Given the description of an element on the screen output the (x, y) to click on. 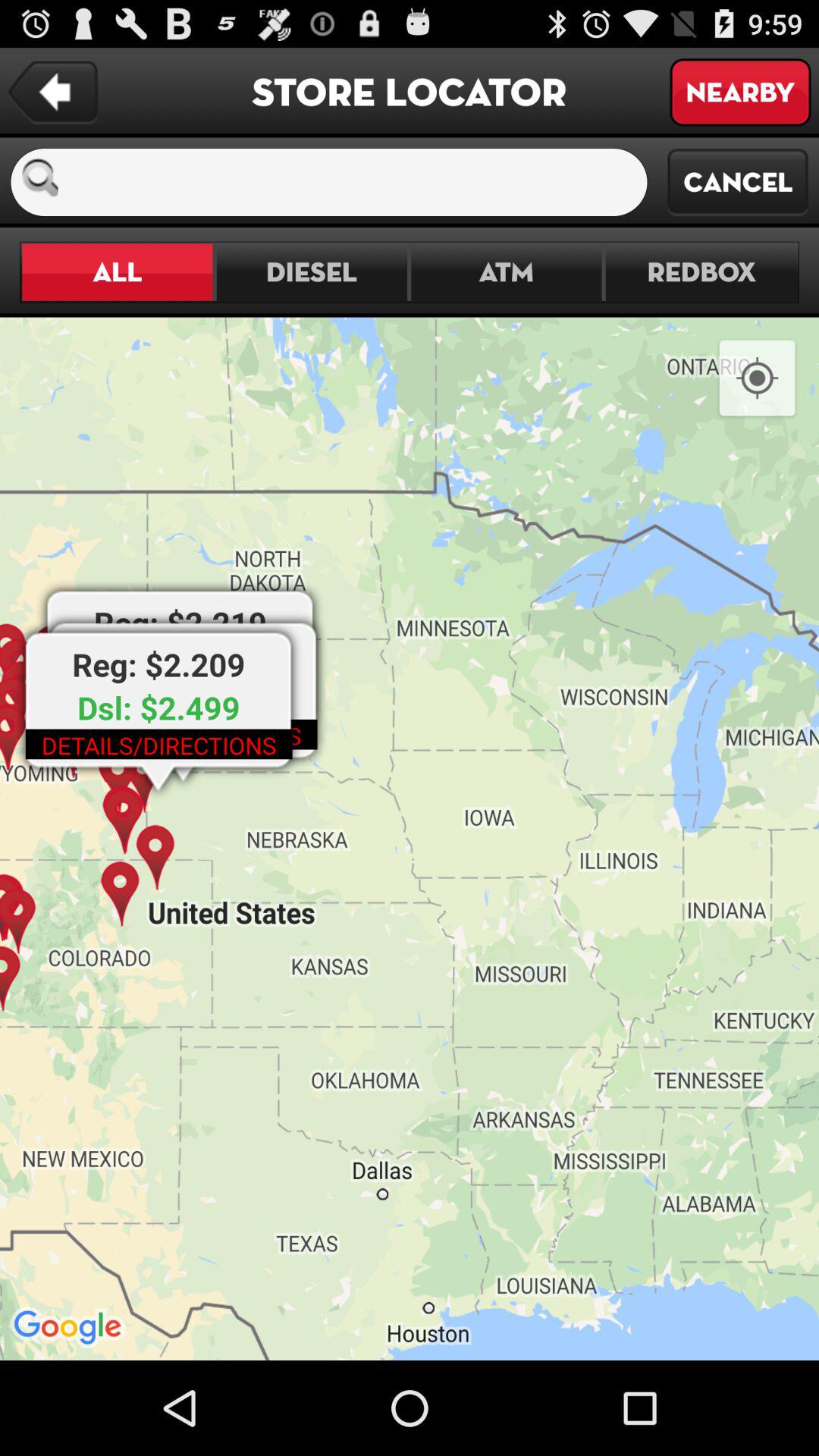
flip until the all icon (117, 271)
